Given the description of an element on the screen output the (x, y) to click on. 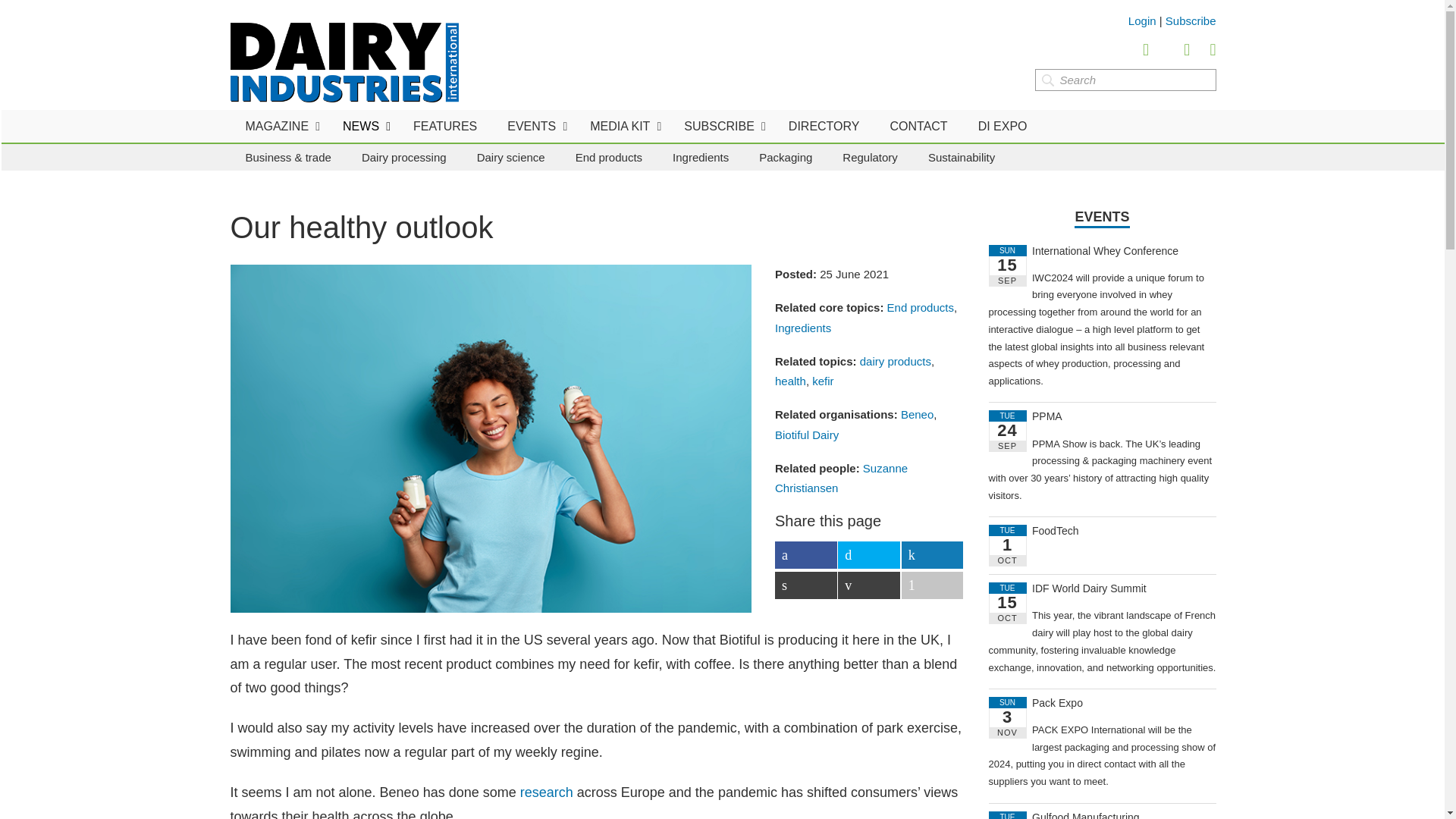
Share on Twitter (868, 554)
Search (1124, 79)
NEWS (362, 125)
End products (609, 157)
Share on Email (868, 584)
Regulatory (869, 157)
Ingredients (701, 157)
EVENTS (533, 125)
Share on Facebook (805, 554)
SUBSCRIBE (720, 125)
Login (1142, 20)
Dairy science (510, 157)
Dairy Industries International (344, 62)
MAGAZINE (279, 125)
DIRECTORY (824, 125)
